Given the description of an element on the screen output the (x, y) to click on. 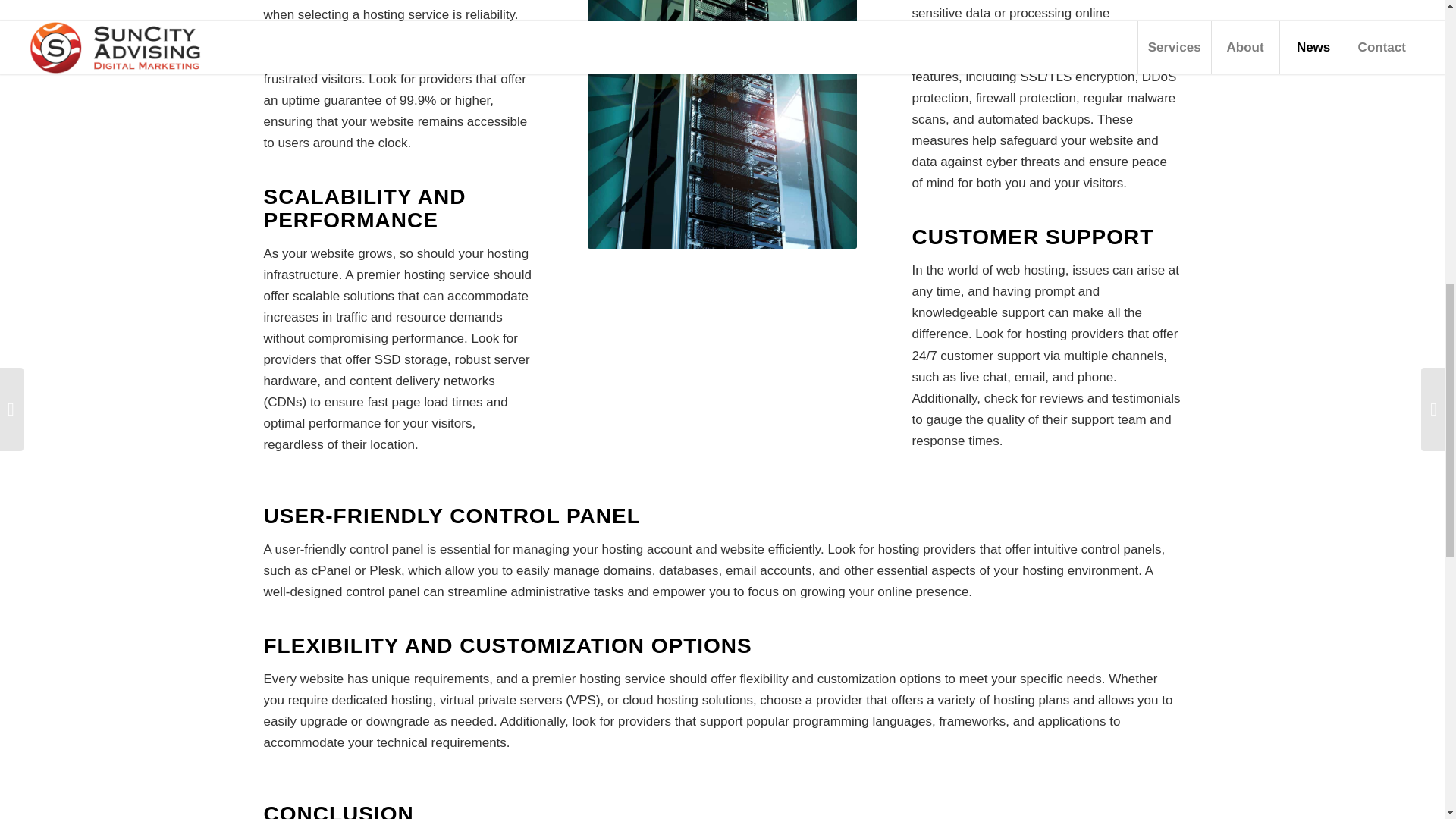
hosting services (722, 124)
